Given the description of an element on the screen output the (x, y) to click on. 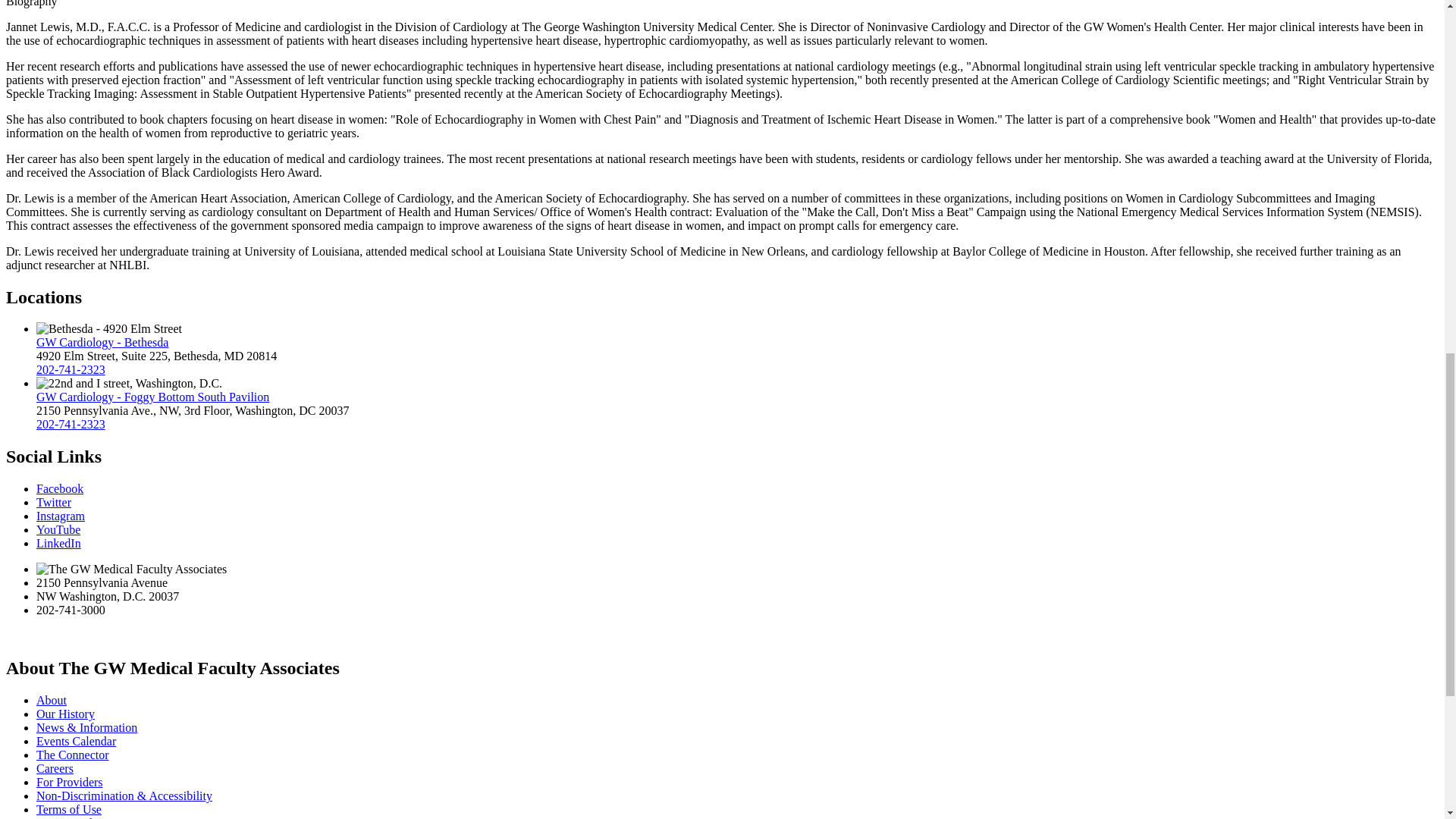
GW Cardiology - Bethesda (102, 341)
202-741-2323 (70, 369)
YouTube (58, 529)
202-741-2323 (70, 423)
Facebook (59, 488)
The Connector (72, 754)
GW Cardiology - Foggy Bottom South Pavilion (152, 396)
Events Calendar (76, 740)
About (51, 699)
LinkedIn (58, 543)
Instagram (60, 515)
Our History (65, 713)
Twitter (53, 502)
